Given the description of an element on the screen output the (x, y) to click on. 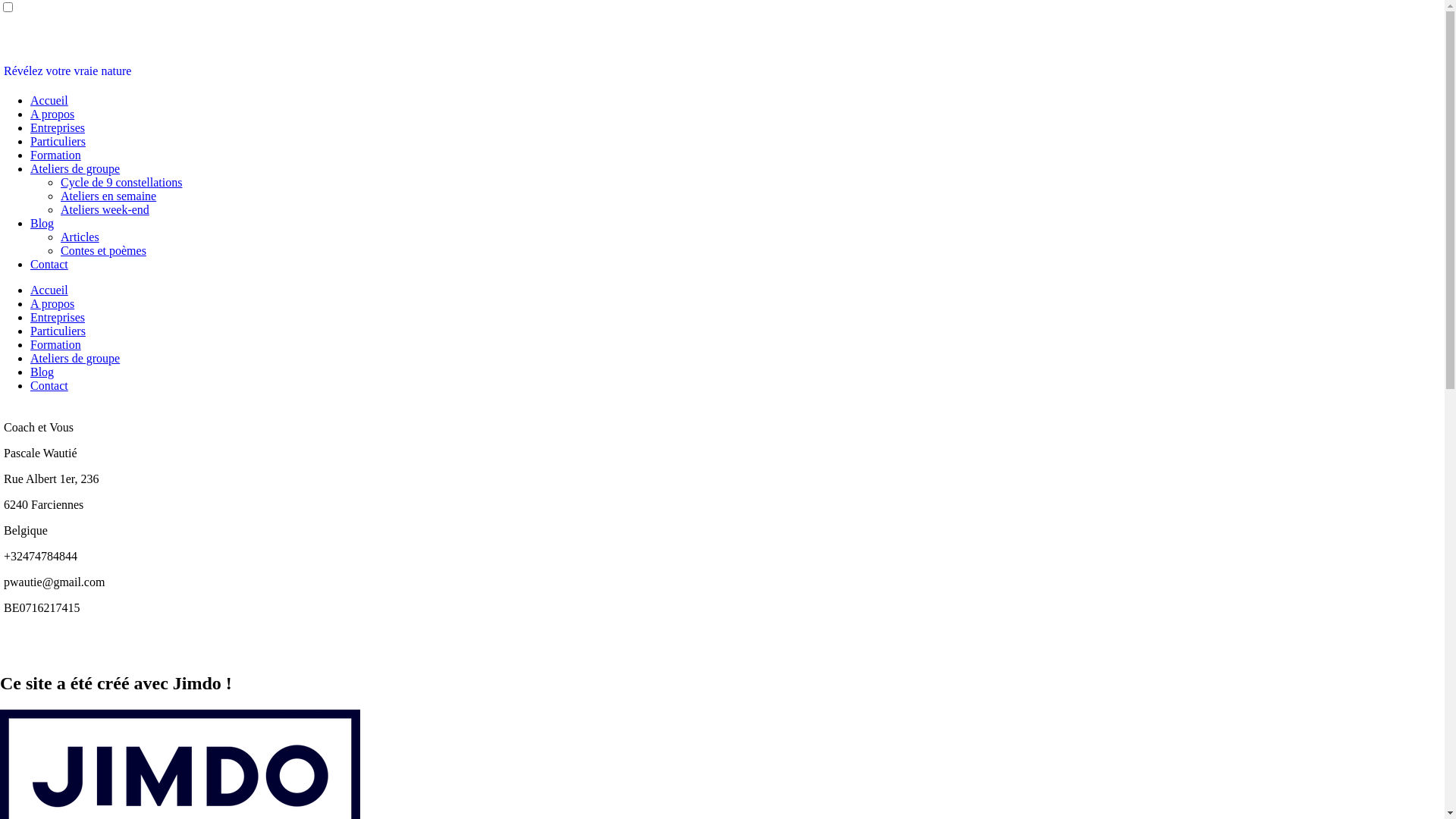
Blog Element type: text (41, 222)
Formation Element type: text (55, 154)
Blog Element type: text (41, 371)
Cycle de 9 constellations Element type: text (121, 181)
Articles Element type: text (79, 236)
Accueil Element type: text (49, 289)
Accueil Element type: text (49, 100)
Ateliers en semaine Element type: text (108, 195)
Ateliers de groupe Element type: text (74, 357)
Entreprises Element type: text (57, 316)
A propos Element type: text (52, 113)
Ateliers de groupe Element type: text (74, 168)
Particuliers Element type: text (57, 140)
Ateliers week-end Element type: text (104, 209)
Contact Element type: text (49, 385)
Particuliers Element type: text (57, 330)
Formation Element type: text (55, 344)
Entreprises Element type: text (57, 127)
Contact Element type: text (49, 263)
A propos Element type: text (52, 303)
